Given the description of an element on the screen output the (x, y) to click on. 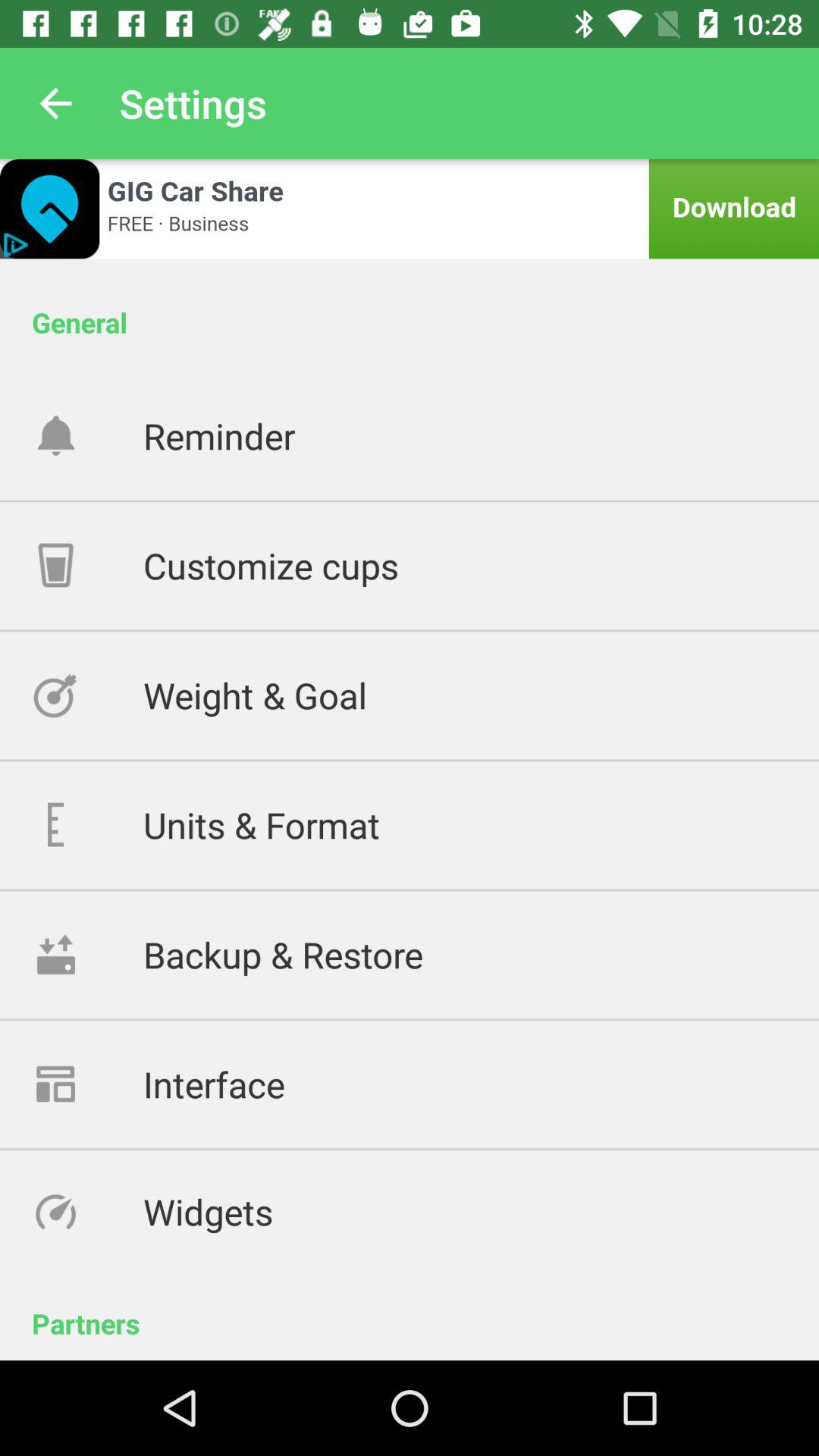
download app advertisement (409, 208)
